Given the description of an element on the screen output the (x, y) to click on. 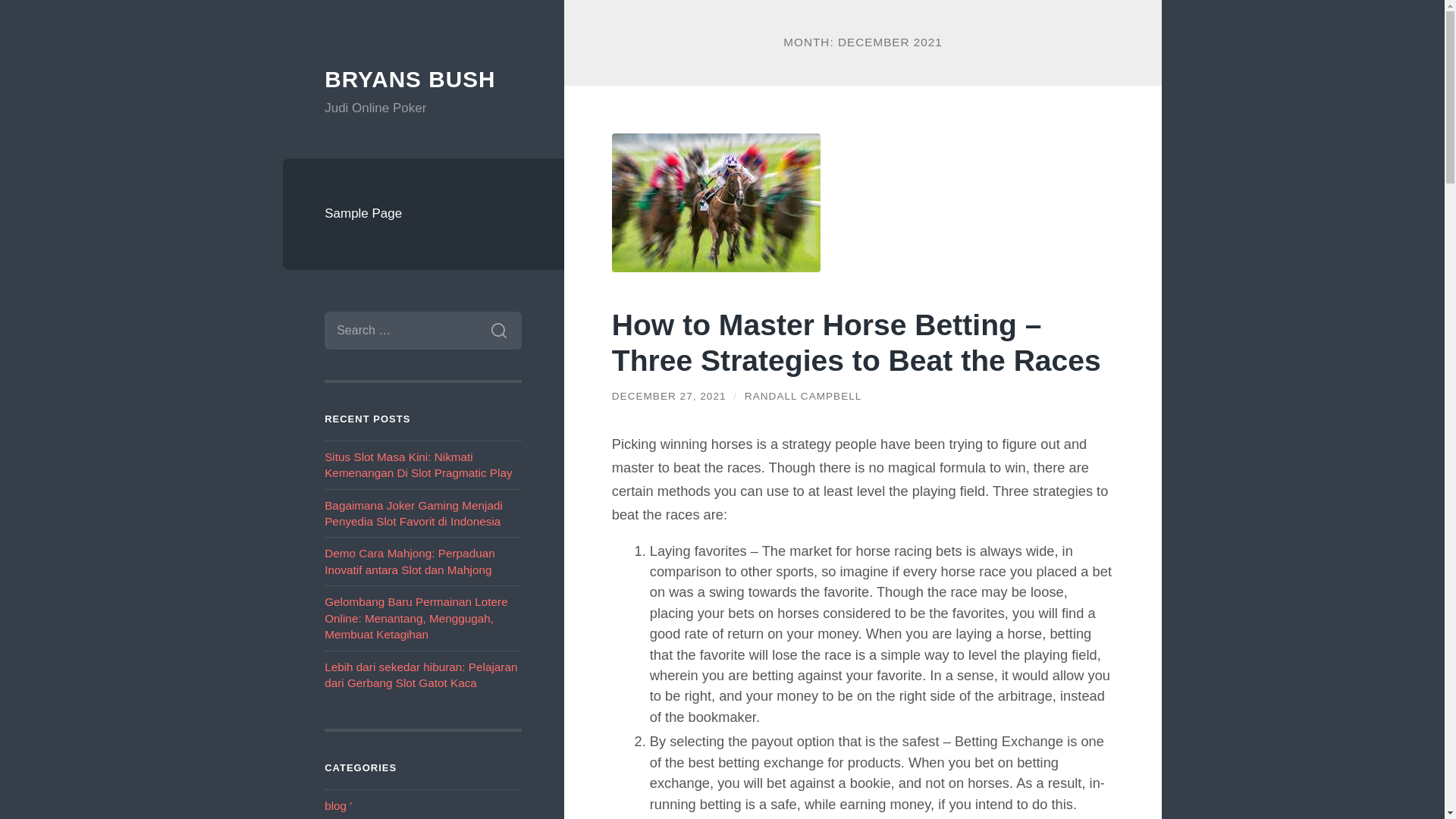
Sample Page (422, 213)
blog ' (338, 805)
Search (498, 330)
Search (498, 330)
Posts by Randall Campbell (802, 396)
BRYANS BUSH (409, 78)
Search (498, 330)
